Given the description of an element on the screen output the (x, y) to click on. 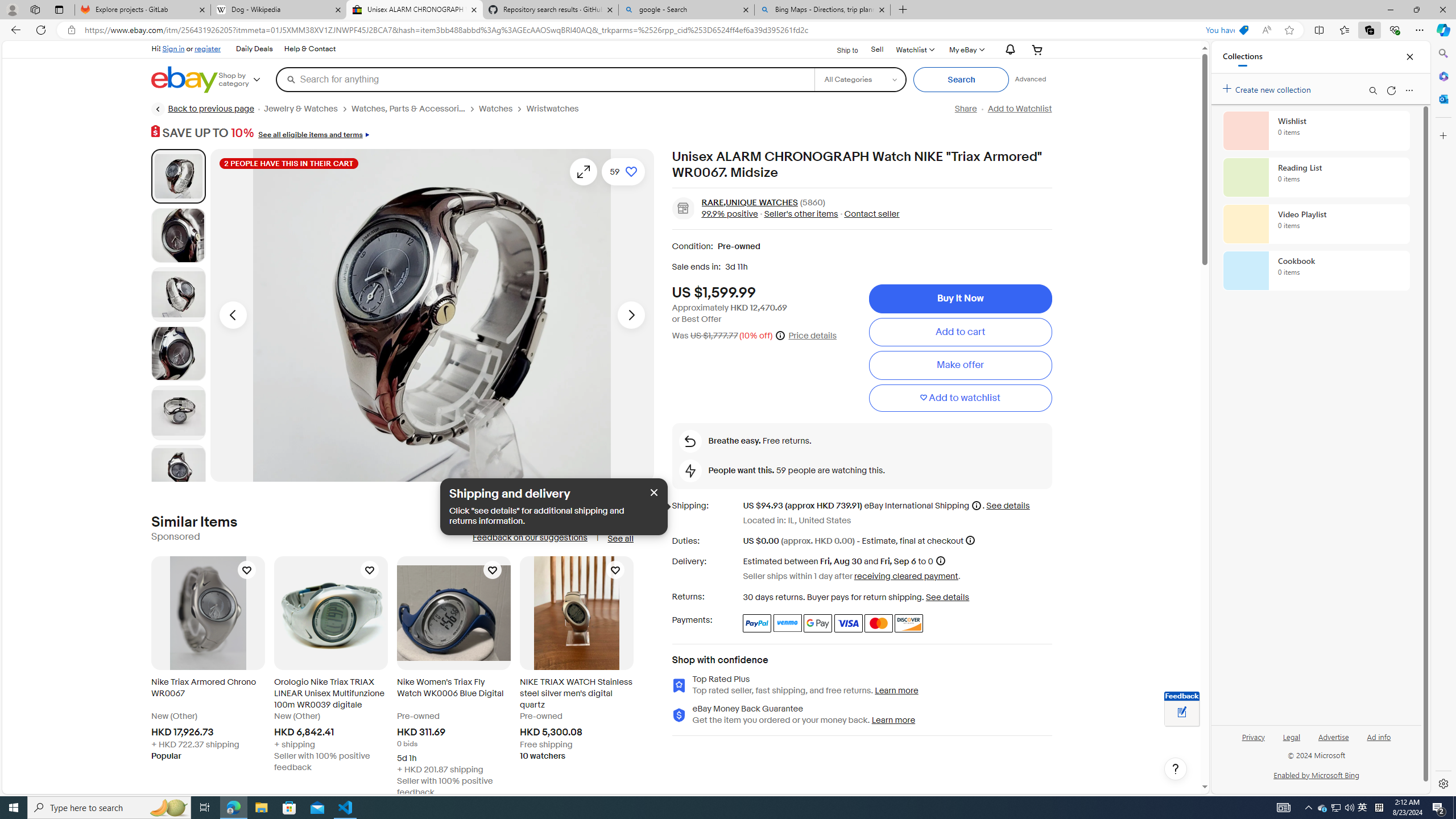
Add to watchlist (959, 397)
Contact seller (871, 213)
Picture 4 of 18 (178, 352)
Search for anything (544, 78)
Class: ux-action (682, 208)
Next image - Item images thumbnails (631, 315)
Picture 4 of 18 (178, 353)
Make offer (959, 365)
